Given the description of an element on the screen output the (x, y) to click on. 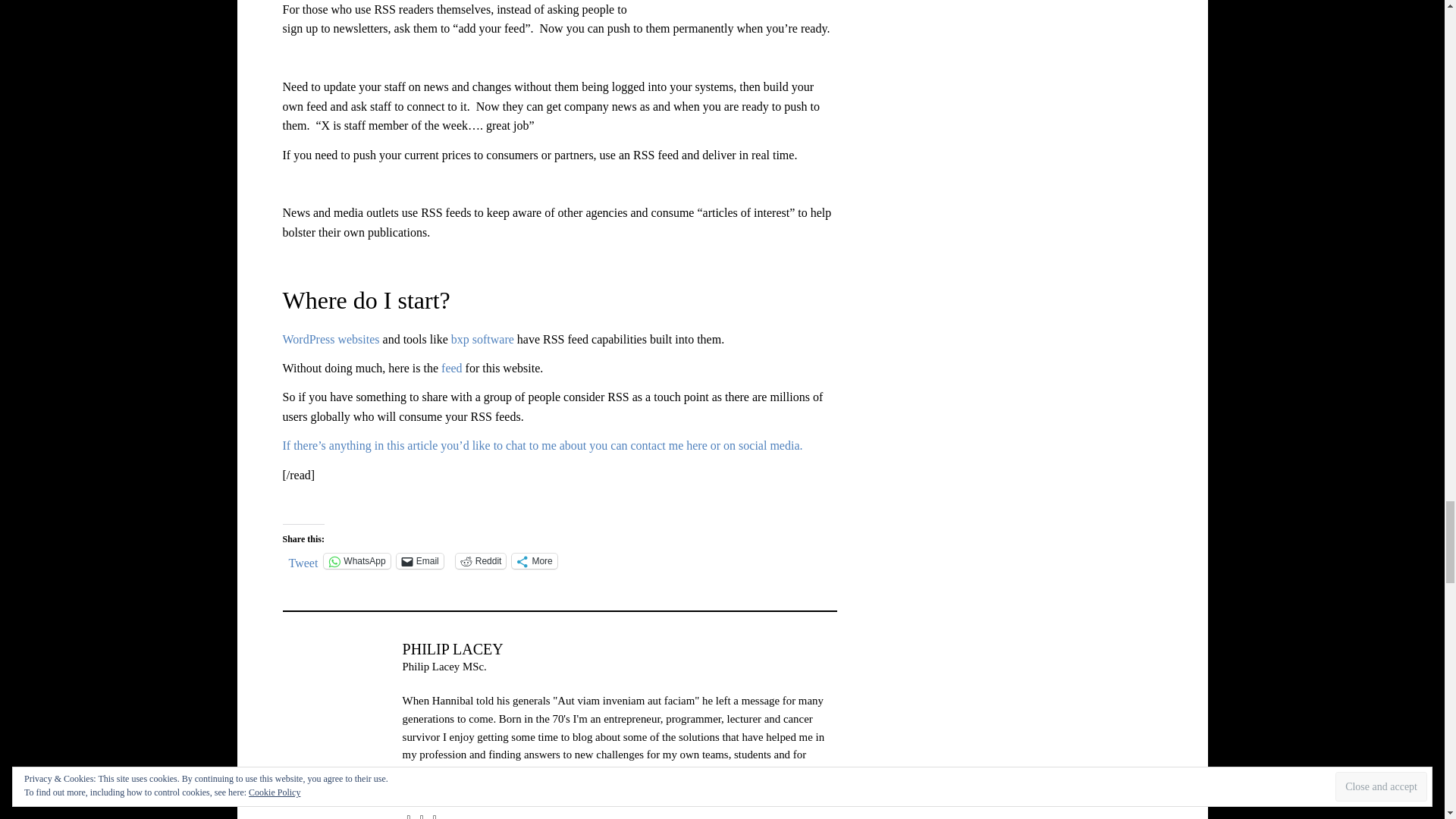
feed (452, 367)
Click to email a link to a friend (420, 560)
bxp software (482, 338)
More (534, 560)
Click to share on WhatsApp (356, 560)
Email (420, 560)
WordPress websites (330, 338)
Tweet (302, 560)
Click to share on Reddit (480, 560)
Reddit (480, 560)
WhatsApp (356, 560)
